Given the description of an element on the screen output the (x, y) to click on. 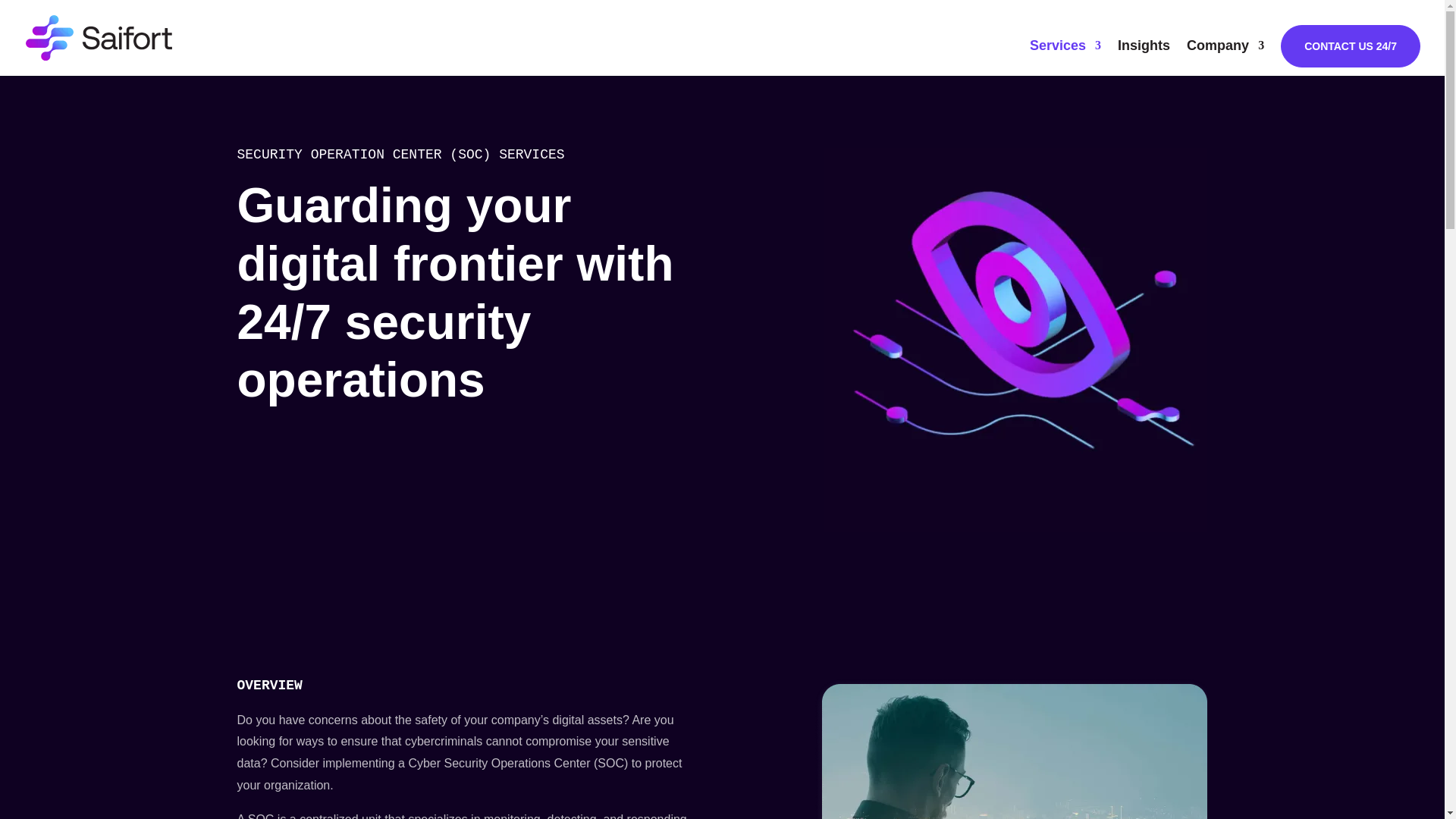
SOC-Overview (1010, 748)
Services (1064, 58)
Company (1224, 58)
Insights (1144, 58)
